Given the description of an element on the screen output the (x, y) to click on. 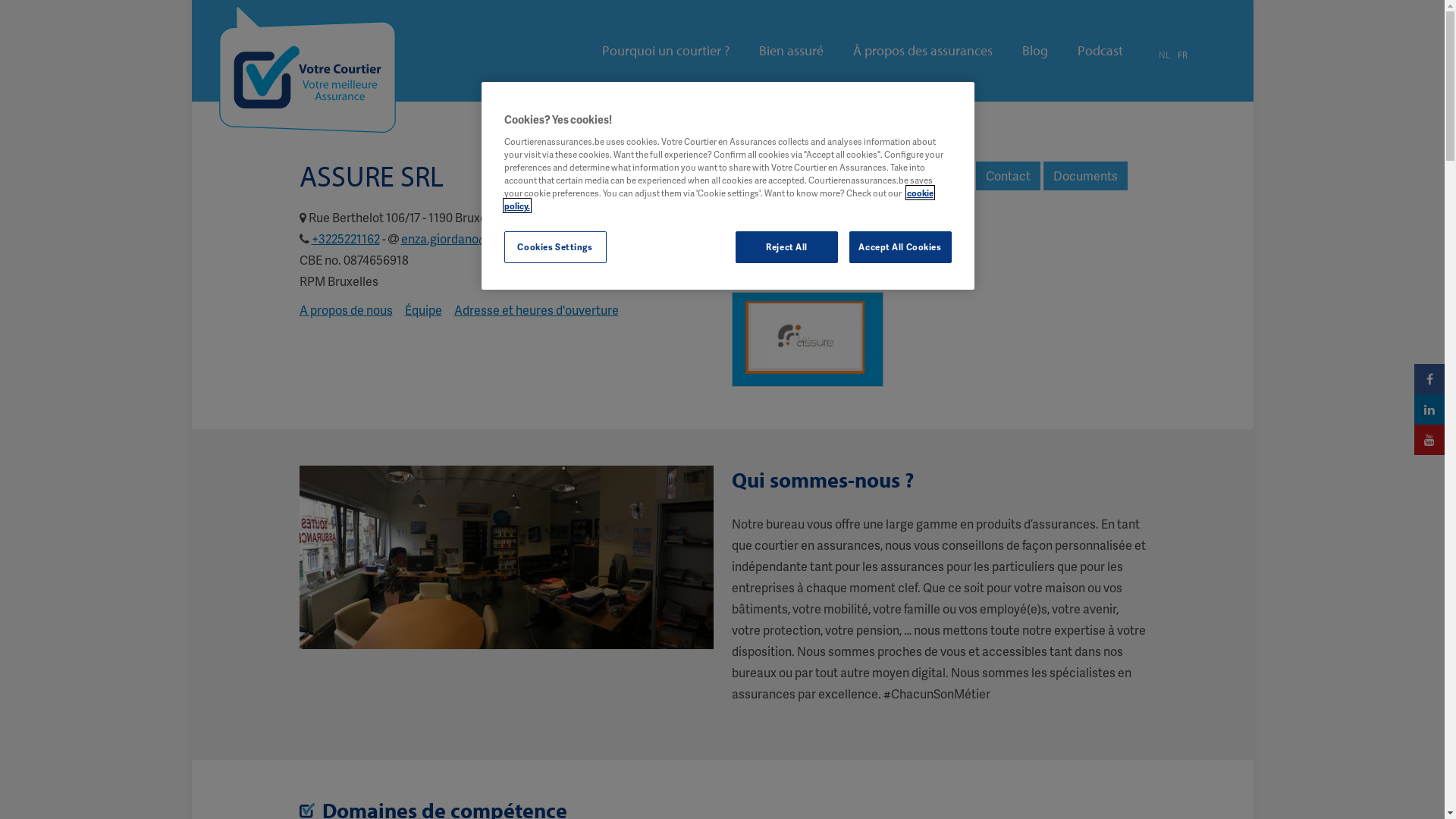
Contact Element type: text (1007, 175)
Reject All Element type: text (786, 247)
Accept All Cookies Element type: text (900, 247)
A propos de nous Element type: text (345, 309)
Podcast Element type: text (1099, 50)
Blog Element type: text (1034, 50)
FR Element type: text (1181, 54)
cookie policy. Element type: text (717, 198)
enza.giordano@assuresprl.be Element type: text (480, 238)
Cookies Settings Element type: text (554, 247)
+3225221162 Element type: text (344, 238)
NL Element type: text (1164, 54)
Pourquoi un courtier ? Element type: text (665, 50)
Adresse et heures d'ouverture Element type: text (535, 309)
Documents Element type: text (1085, 175)
